Given the description of an element on the screen output the (x, y) to click on. 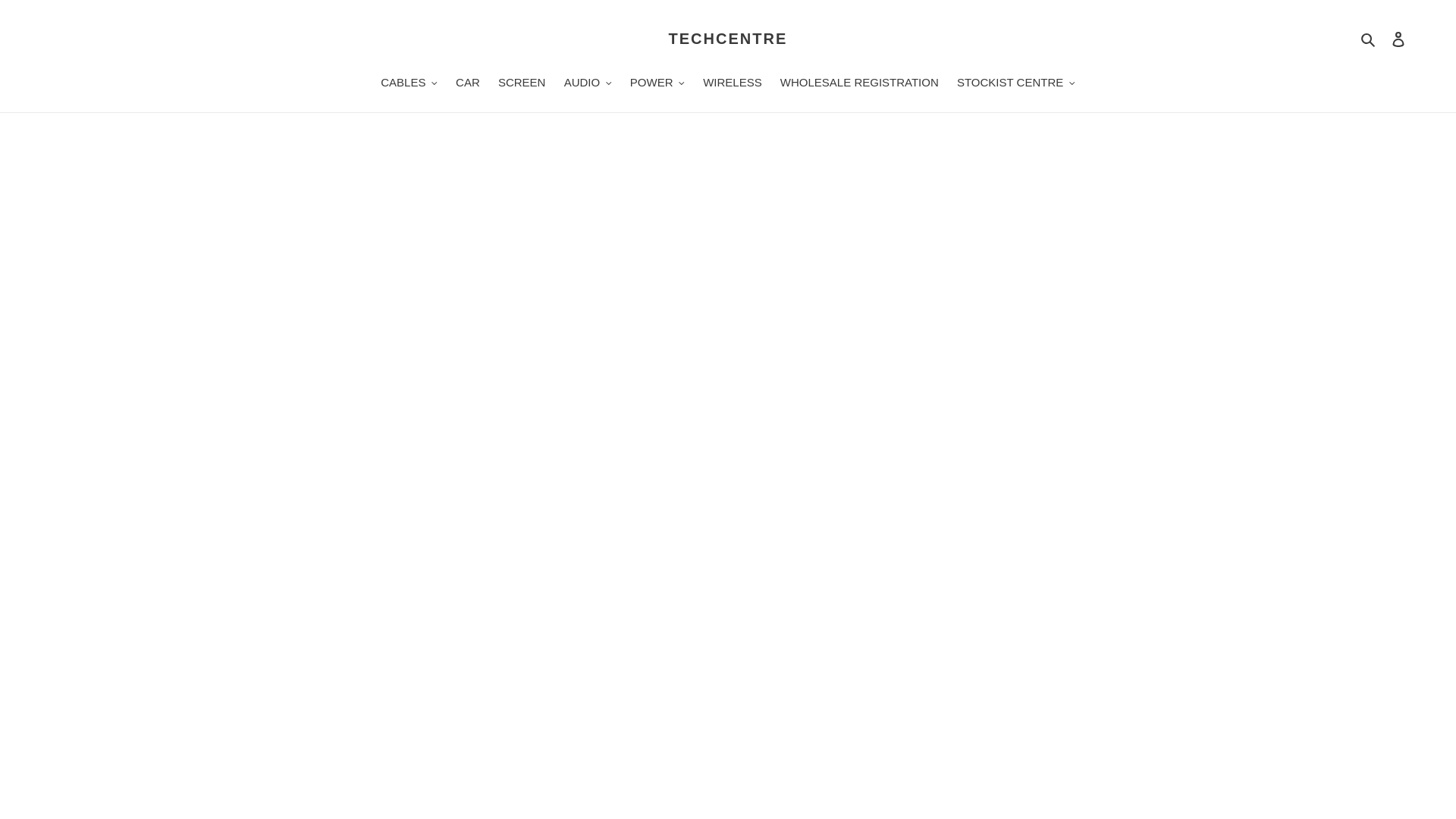
SCREEN Element type: text (521, 84)
WHOLESALE REGISTRATION Element type: text (859, 84)
CABLES Element type: text (409, 84)
WIRELESS Element type: text (732, 84)
Search Element type: text (1368, 38)
POWER Element type: text (657, 84)
Log in Element type: text (1398, 38)
STOCKIST CENTRE Element type: text (1015, 84)
AUDIO Element type: text (587, 84)
CAR Element type: text (467, 84)
TECHCENTRE Element type: text (727, 38)
